Given the description of an element on the screen output the (x, y) to click on. 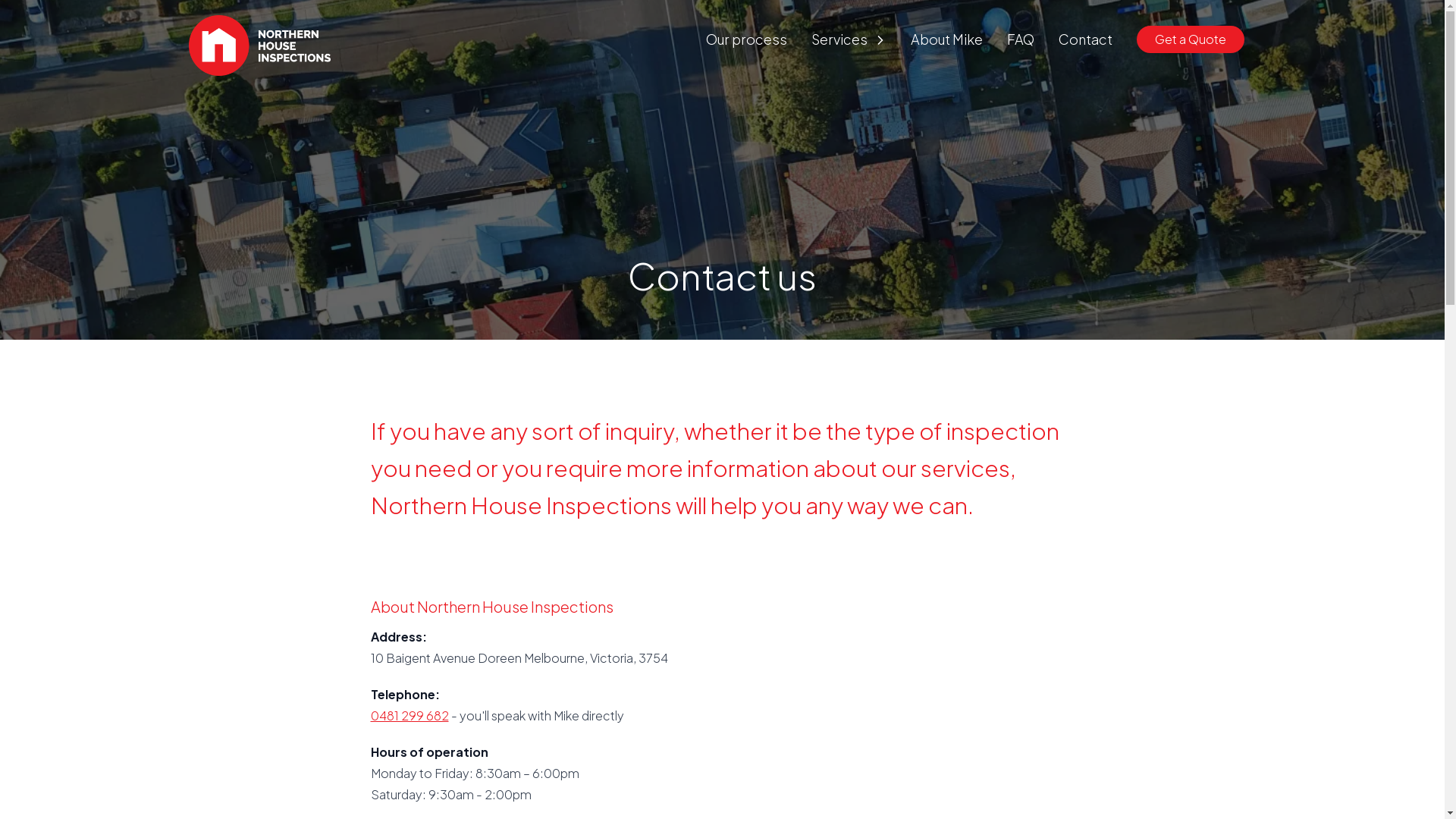
Services Element type: text (839, 39)
About Mike Element type: text (946, 39)
Contact Element type: text (1085, 39)
FAQ Element type: text (1020, 39)
0481 299 682 Element type: text (409, 715)
Get a Quote Element type: text (1189, 39)
Our process Element type: text (745, 39)
